Given the description of an element on the screen output the (x, y) to click on. 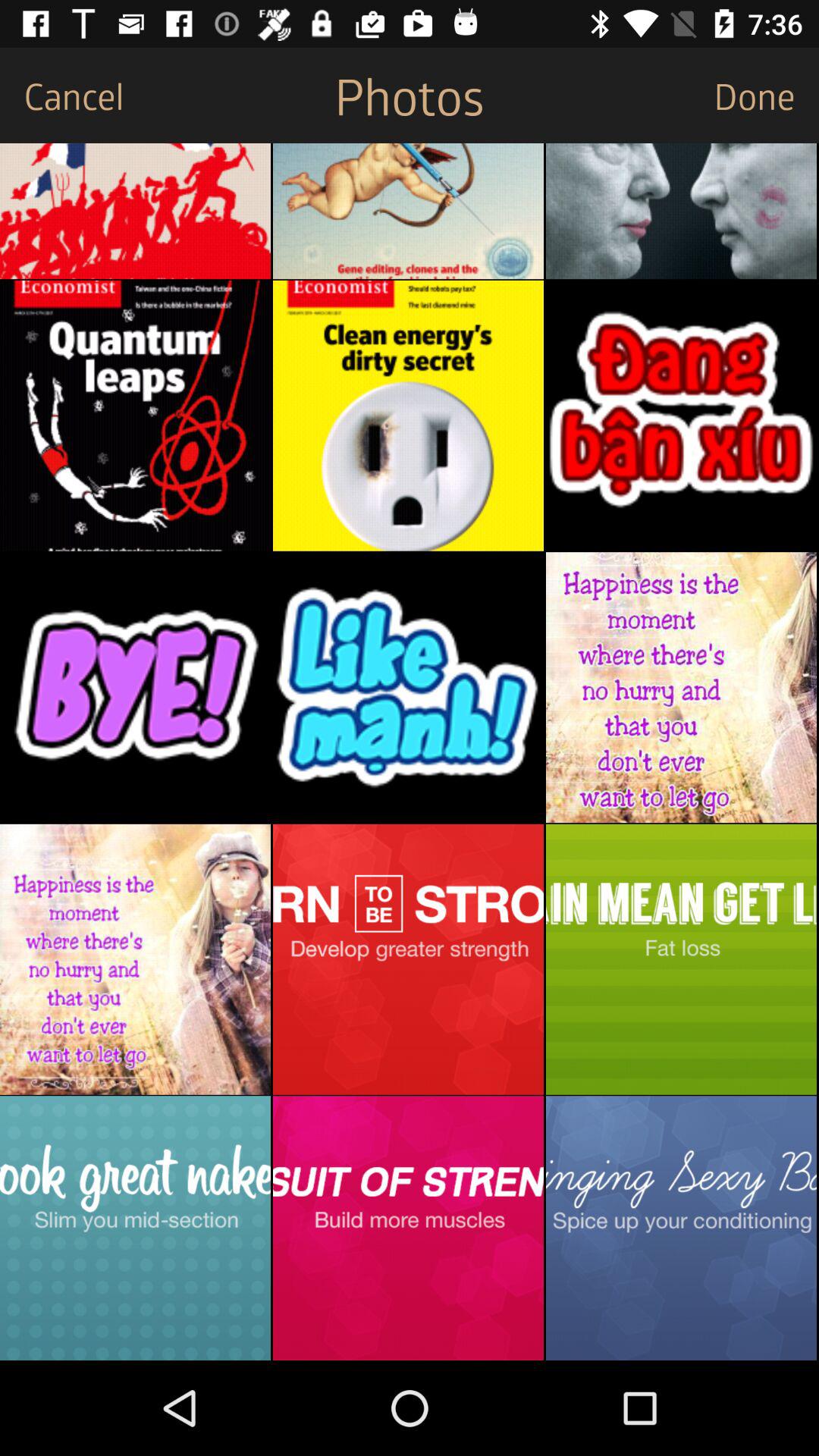
open the cancel icon (61, 95)
